Given the description of an element on the screen output the (x, y) to click on. 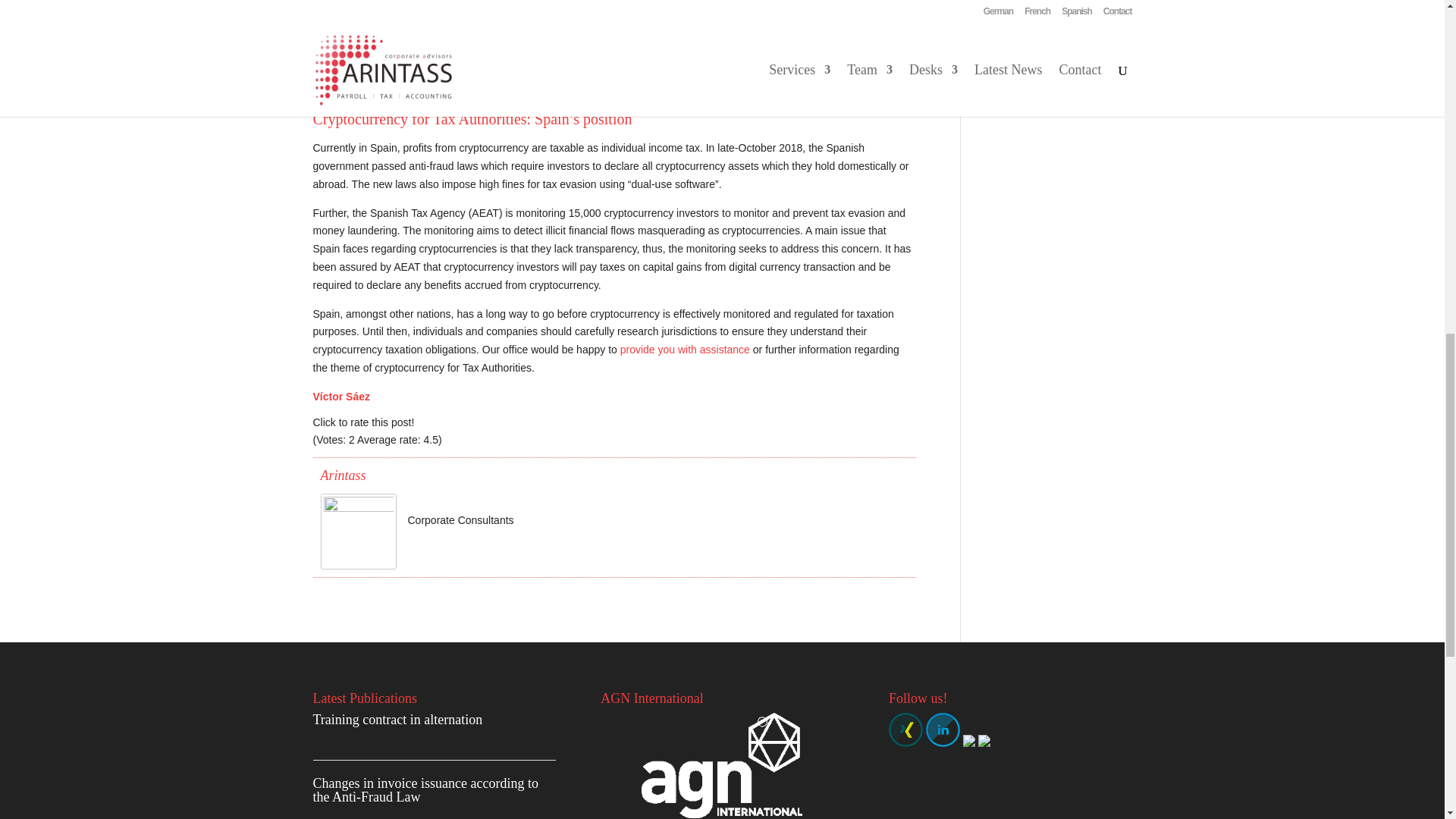
provide you with assistance (684, 349)
Arintass (342, 475)
All posts by Arintass (342, 475)
